Given the description of an element on the screen output the (x, y) to click on. 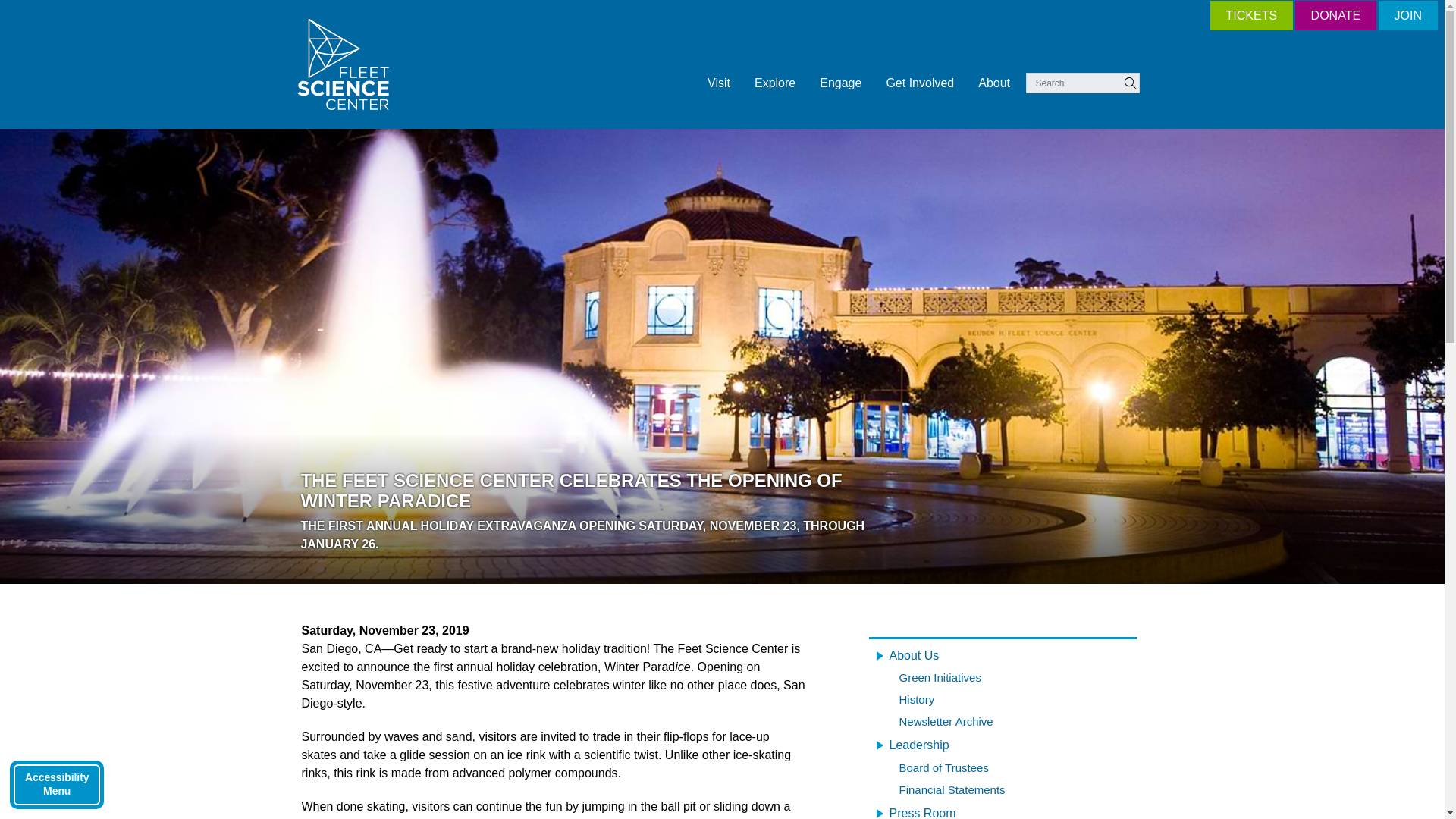
Accessibility Menu (56, 784)
